Given the description of an element on the screen output the (x, y) to click on. 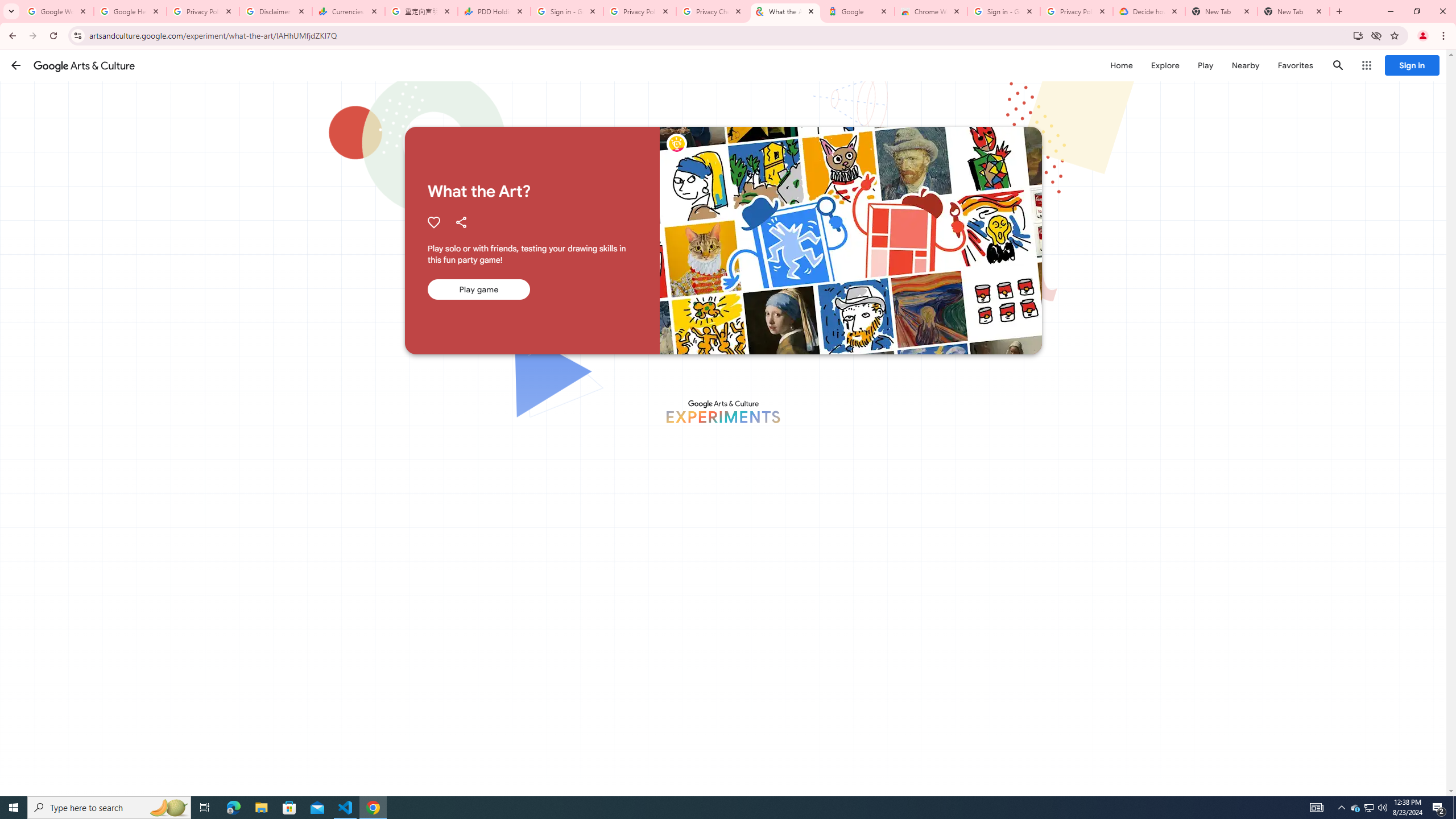
Quit Game (1423, 71)
Sign in - Google Accounts (566, 11)
New Tab (1293, 11)
Play game (477, 289)
